Given the description of an element on the screen output the (x, y) to click on. 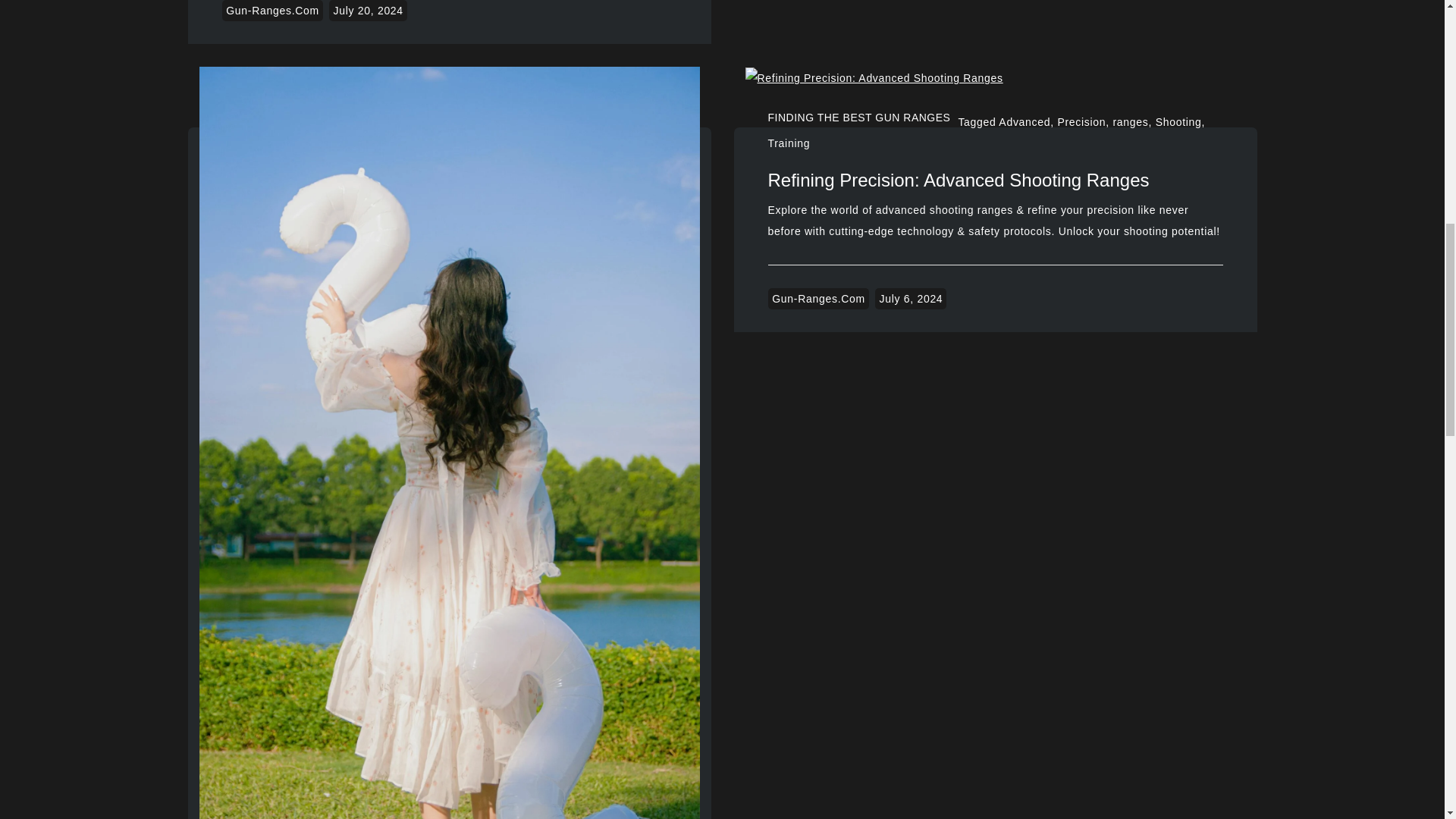
July 20, 2024 (367, 10)
Gun-Ranges.Com (272, 10)
